Given the description of an element on the screen output the (x, y) to click on. 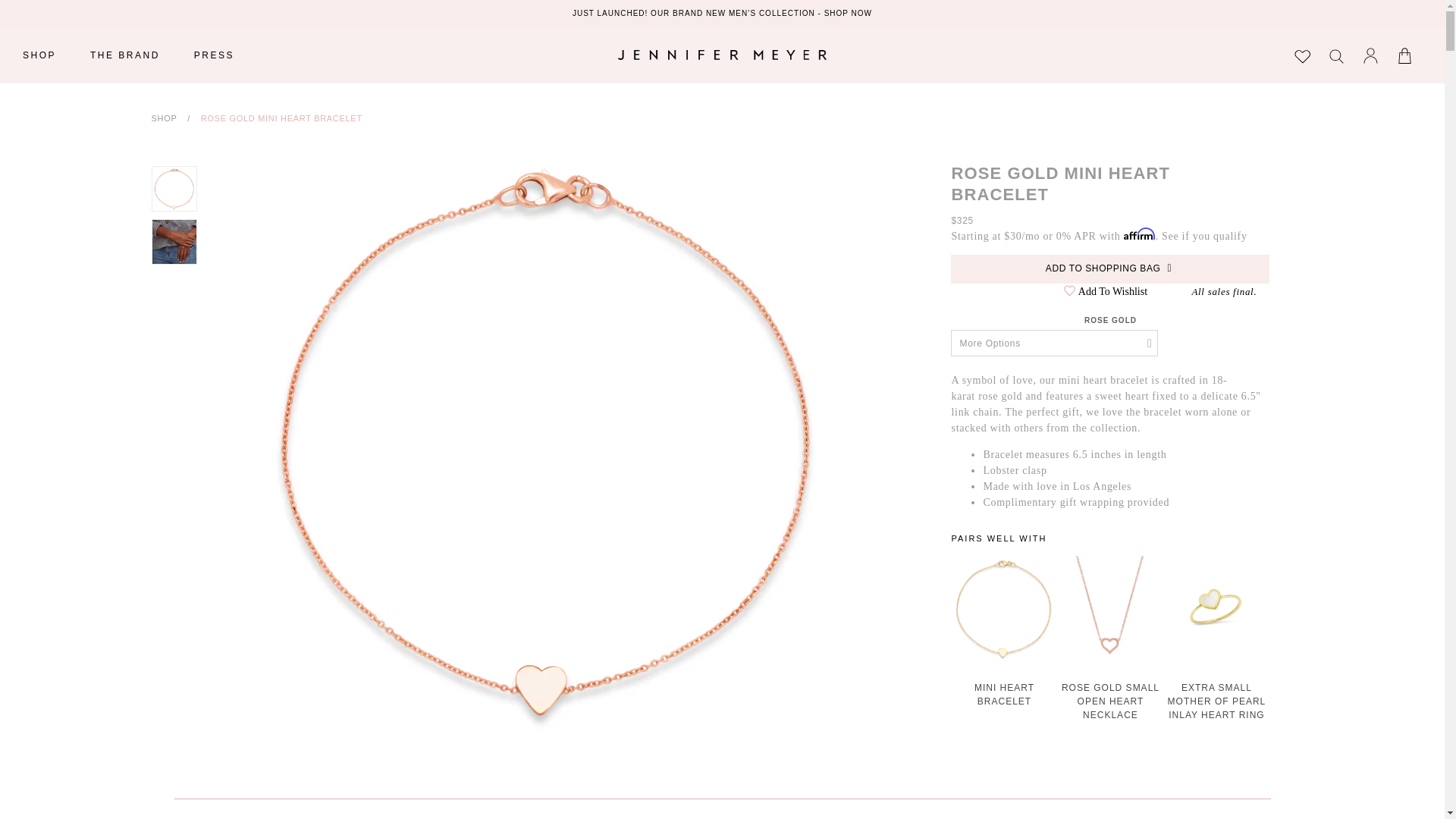
SHOP (39, 55)
Back to shop (164, 117)
Jennifer Meyer (722, 54)
